Given the description of an element on the screen output the (x, y) to click on. 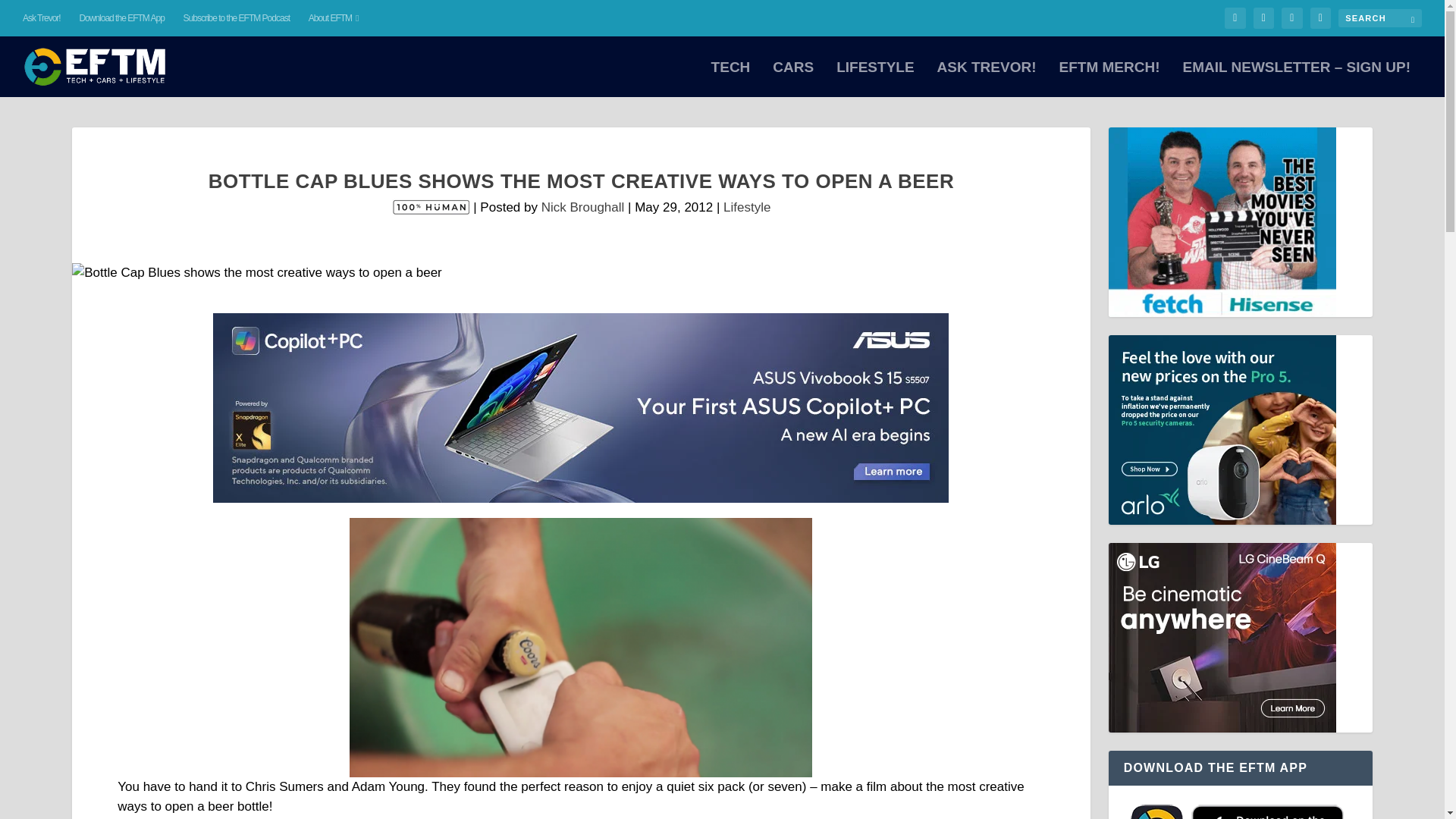
About EFTM (333, 18)
CARS (793, 79)
EFTM MERCH! (1108, 79)
Search for: (1380, 18)
Lifestyle (746, 206)
bottle cap blues (580, 647)
Download the EFTM App (120, 18)
Ask Trevor! (42, 18)
ASK TREVOR! (986, 79)
Nick Broughall (582, 206)
TECH (731, 79)
LIFESTYLE (874, 79)
Posts by Nick Broughall (582, 206)
Subscribe to the EFTM Podcast (236, 18)
